Given the description of an element on the screen output the (x, y) to click on. 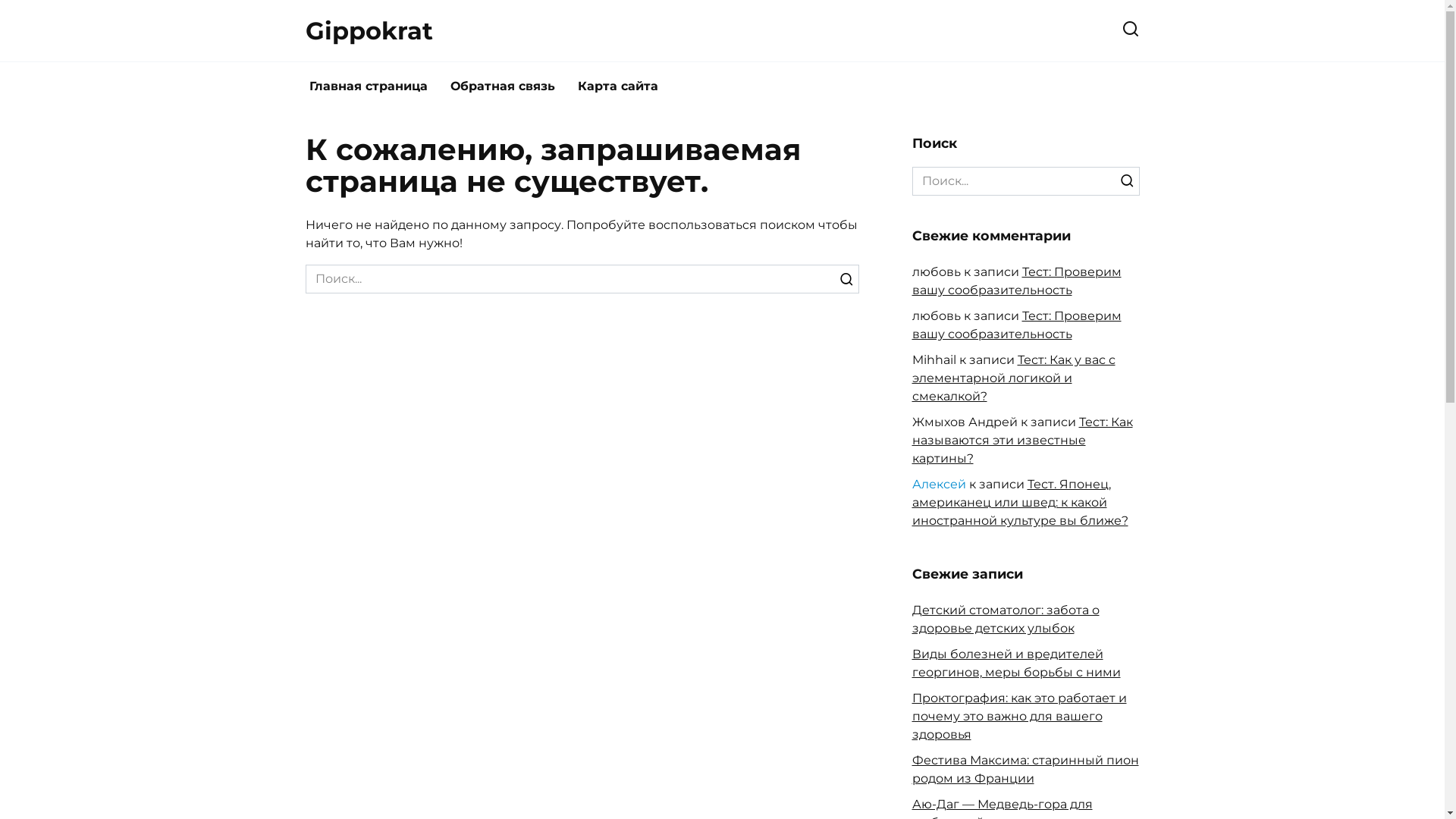
Gippokrat Element type: text (368, 30)
